Given the description of an element on the screen output the (x, y) to click on. 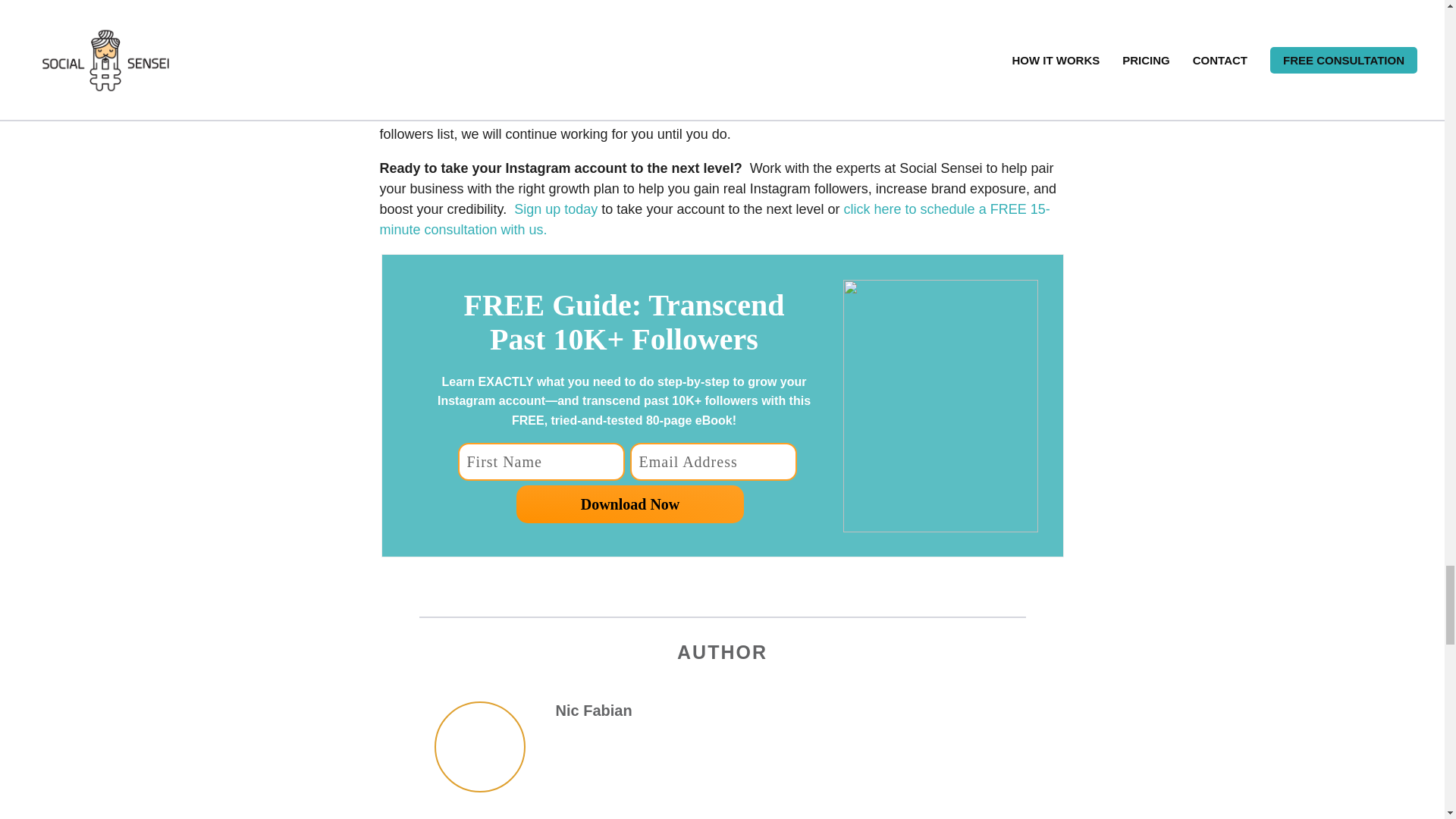
Sign up today (554, 209)
Download Now (630, 504)
